Given the description of an element on the screen output the (x, y) to click on. 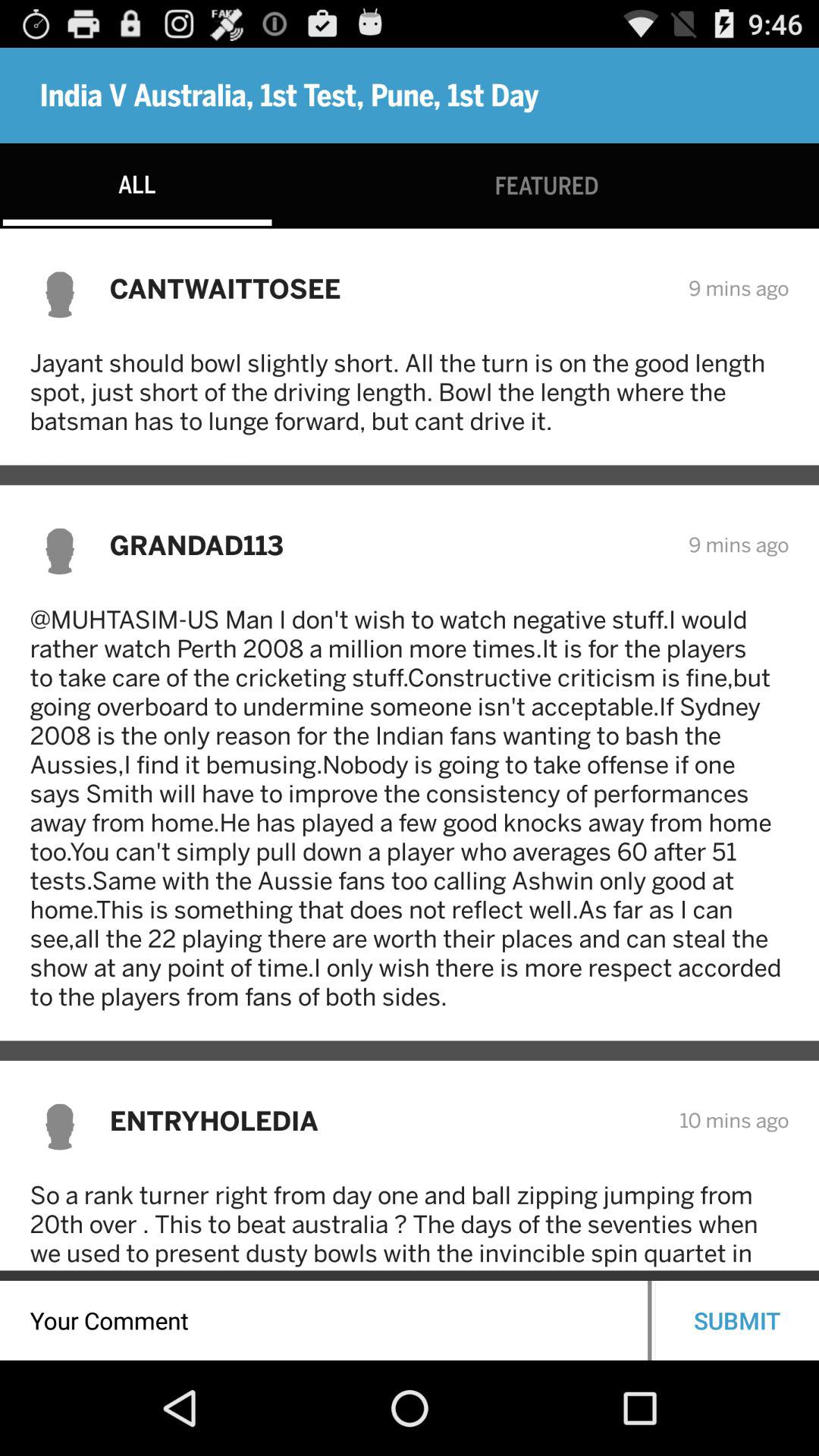
comments (323, 1320)
